Given the description of an element on the screen output the (x, y) to click on. 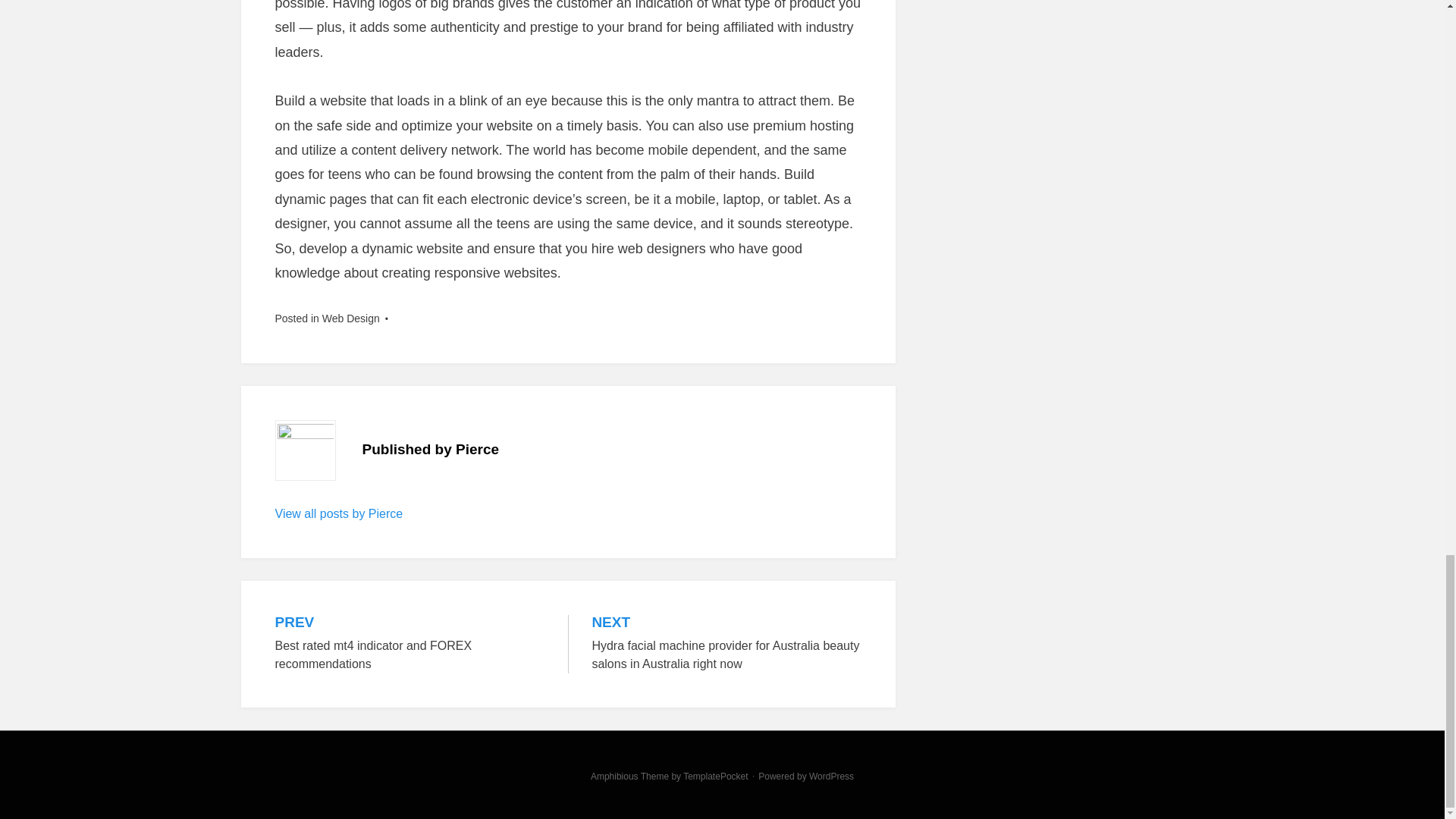
WordPress (831, 776)
View all posts by Pierce (339, 513)
TemplatePocket (715, 776)
TemplatePocket (715, 776)
WordPress (409, 644)
Web Design (831, 776)
